Given the description of an element on the screen output the (x, y) to click on. 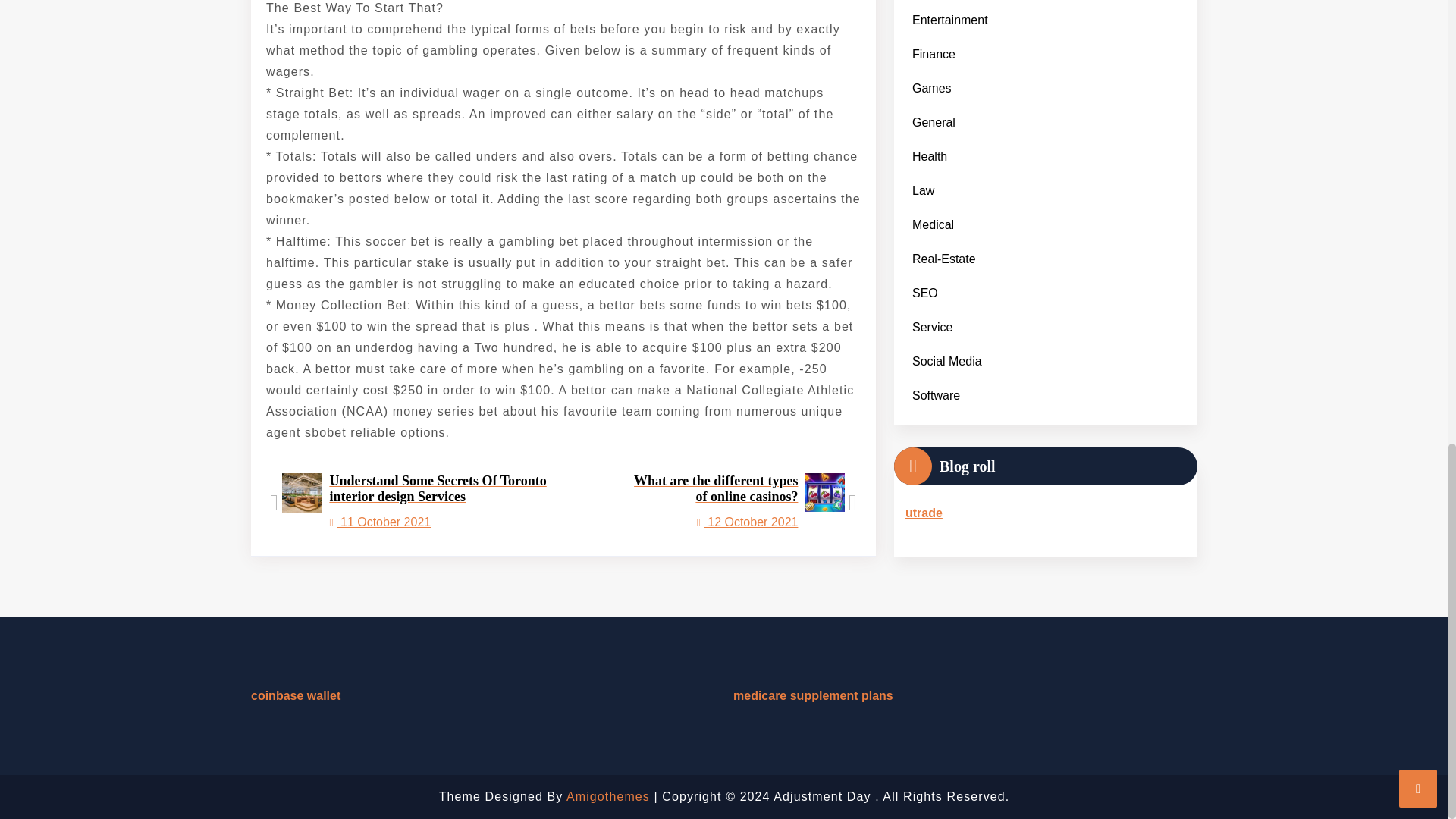
General (933, 17)
Health (929, 52)
